Given the description of an element on the screen output the (x, y) to click on. 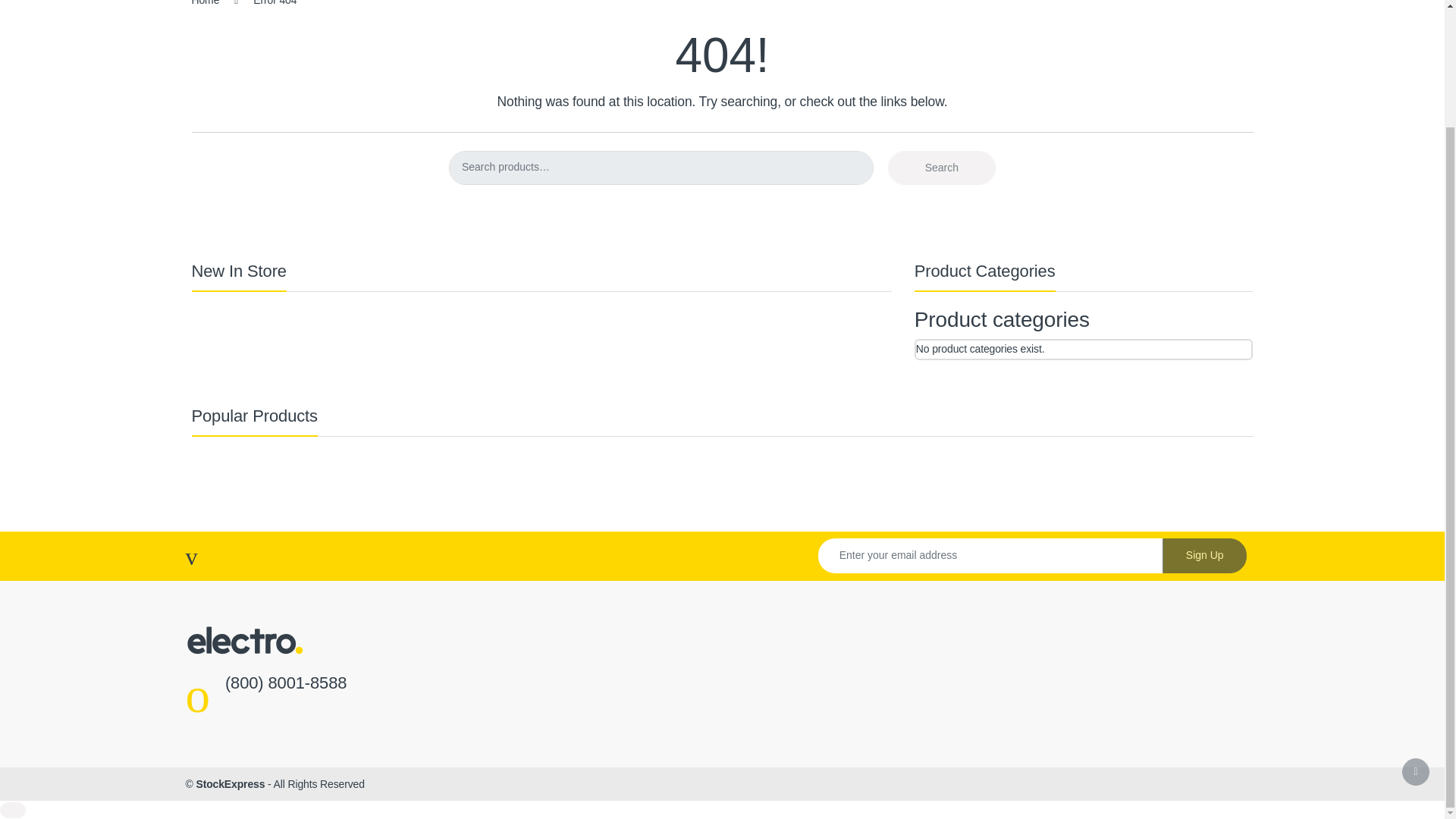
Home (204, 2)
Sign Up (1204, 555)
StockExpress (229, 784)
Search (941, 167)
